Given the description of an element on the screen output the (x, y) to click on. 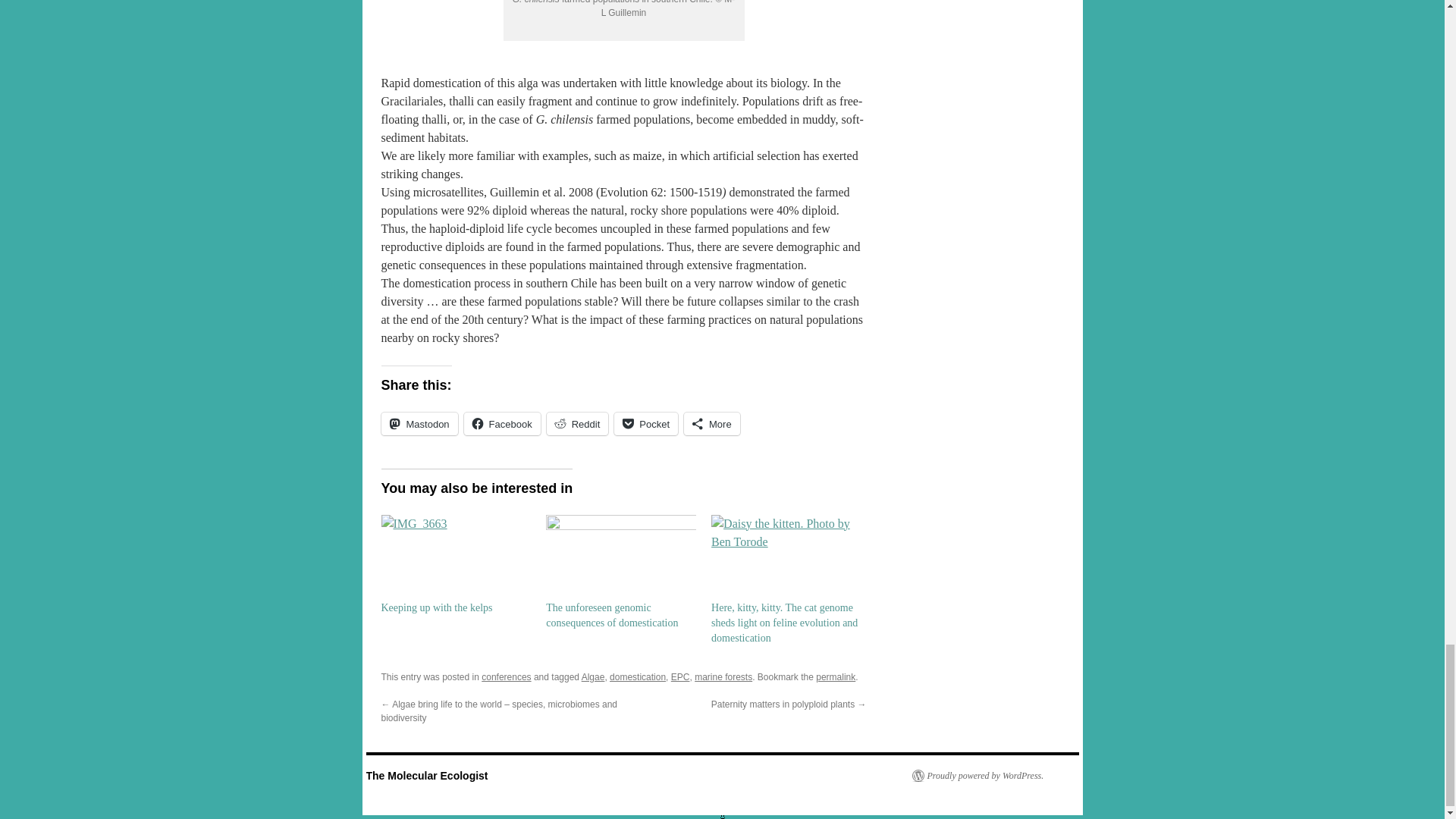
Keeping up with the kelps (436, 607)
Reddit (577, 423)
Pocket (646, 423)
Click to share on Mastodon (418, 423)
More (711, 423)
Click to share on Reddit (577, 423)
Facebook (502, 423)
Click to share on Pocket (646, 423)
Click to share on Facebook (502, 423)
Keeping up with the kelps (455, 557)
Mastodon (418, 423)
